Given the description of an element on the screen output the (x, y) to click on. 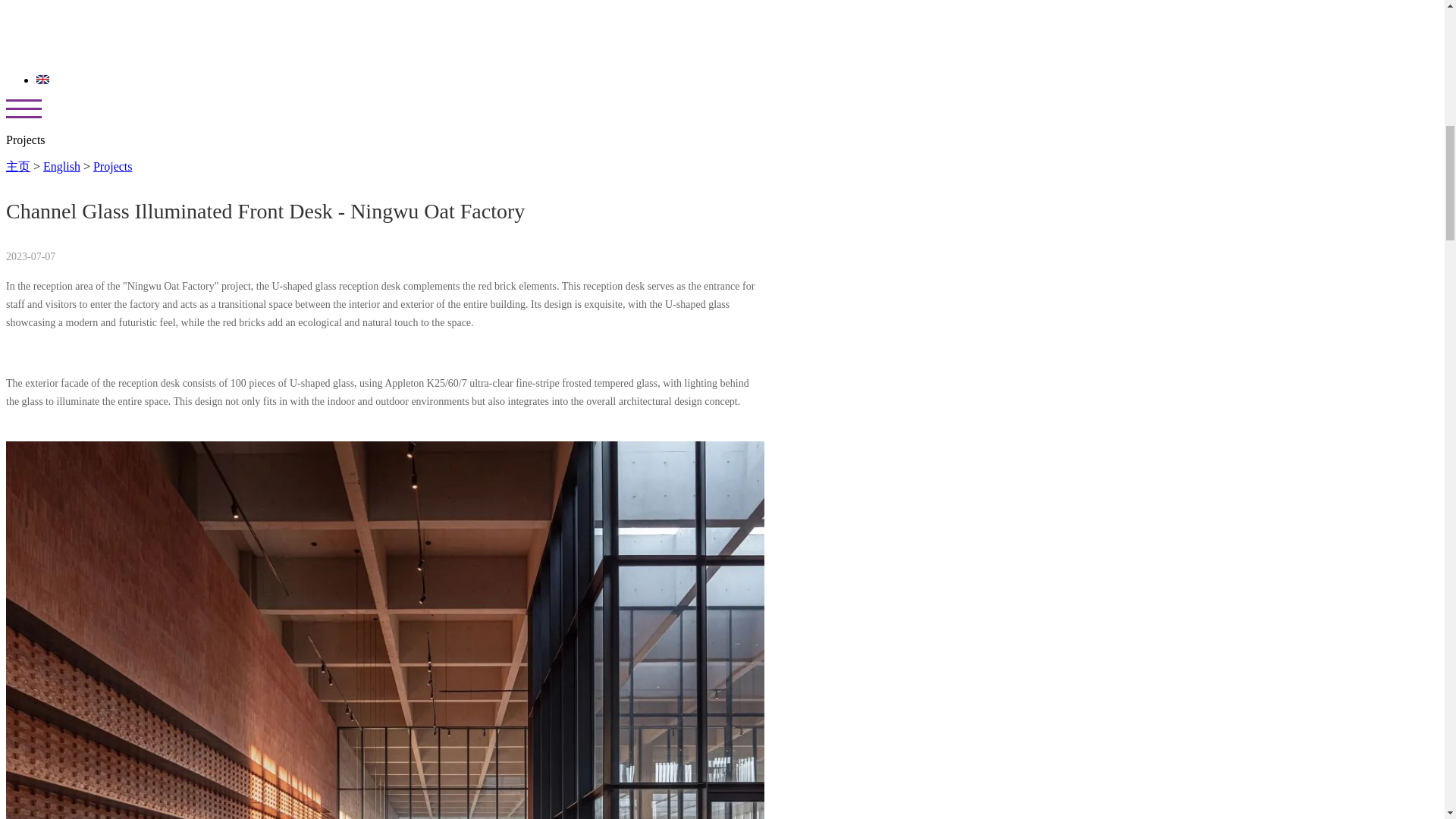
English (42, 79)
English (61, 165)
Projects (112, 165)
